Given the description of an element on the screen output the (x, y) to click on. 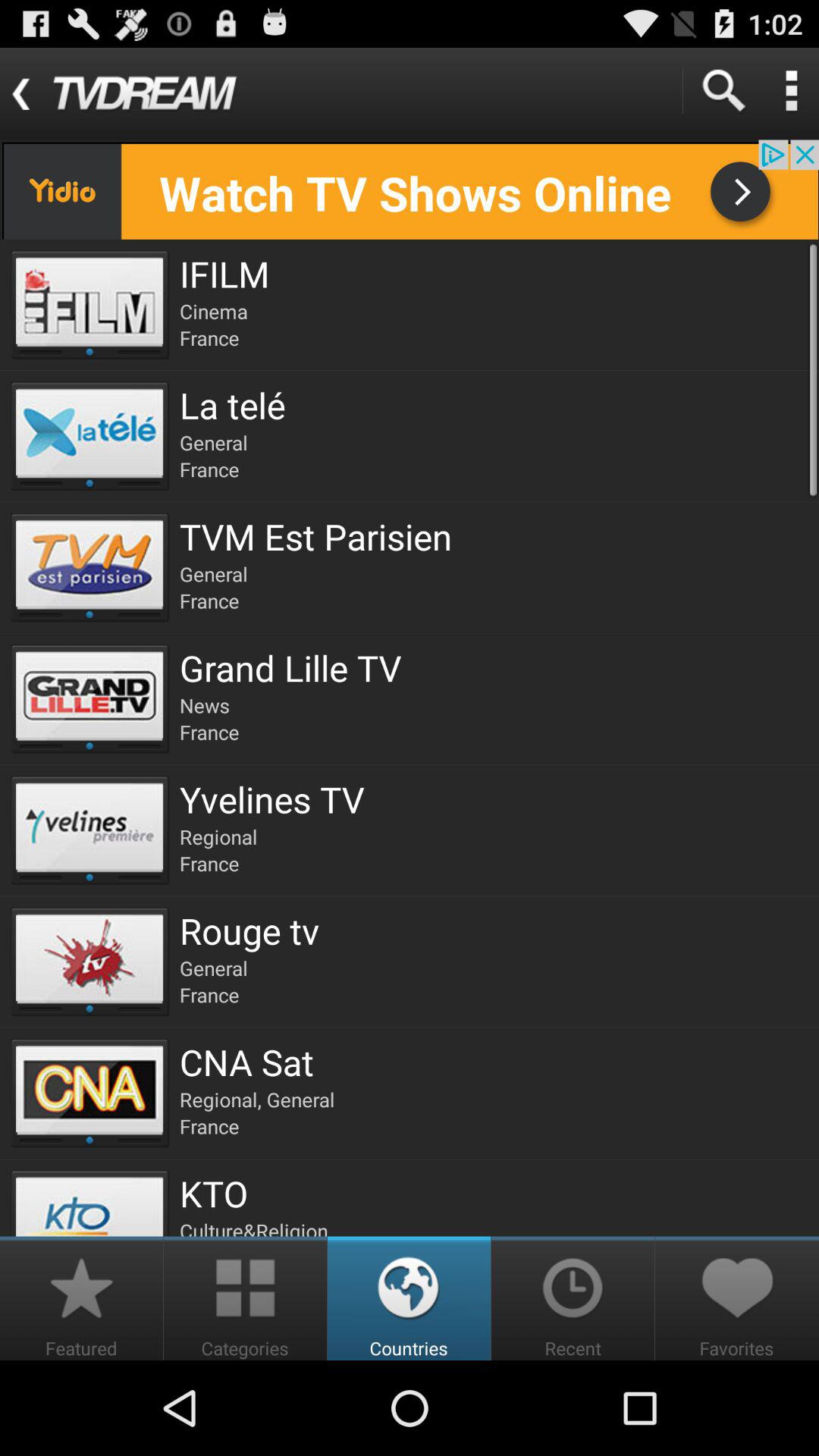
view detail (791, 90)
